Given the description of an element on the screen output the (x, y) to click on. 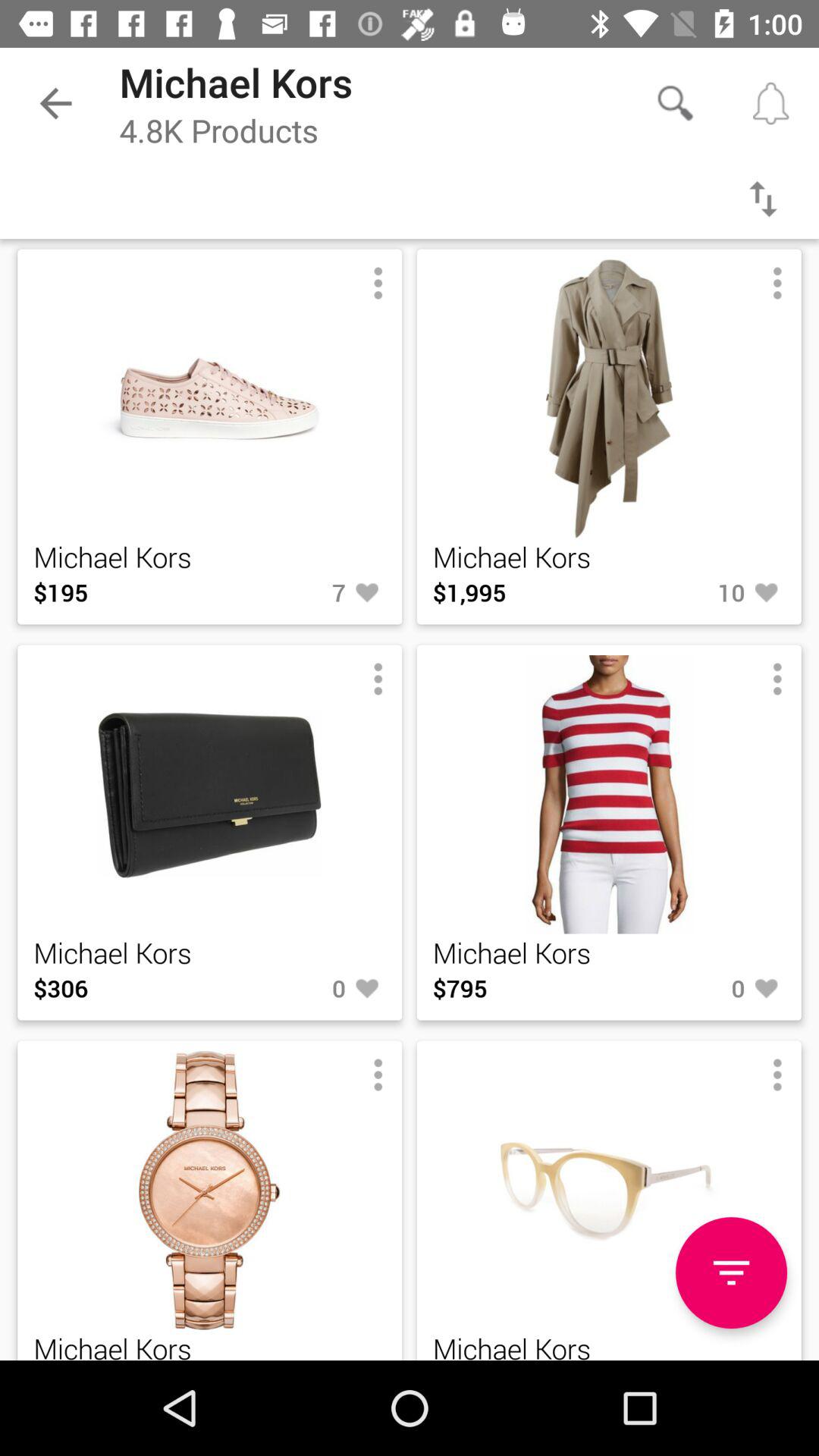
filter (763, 198)
